Given the description of an element on the screen output the (x, y) to click on. 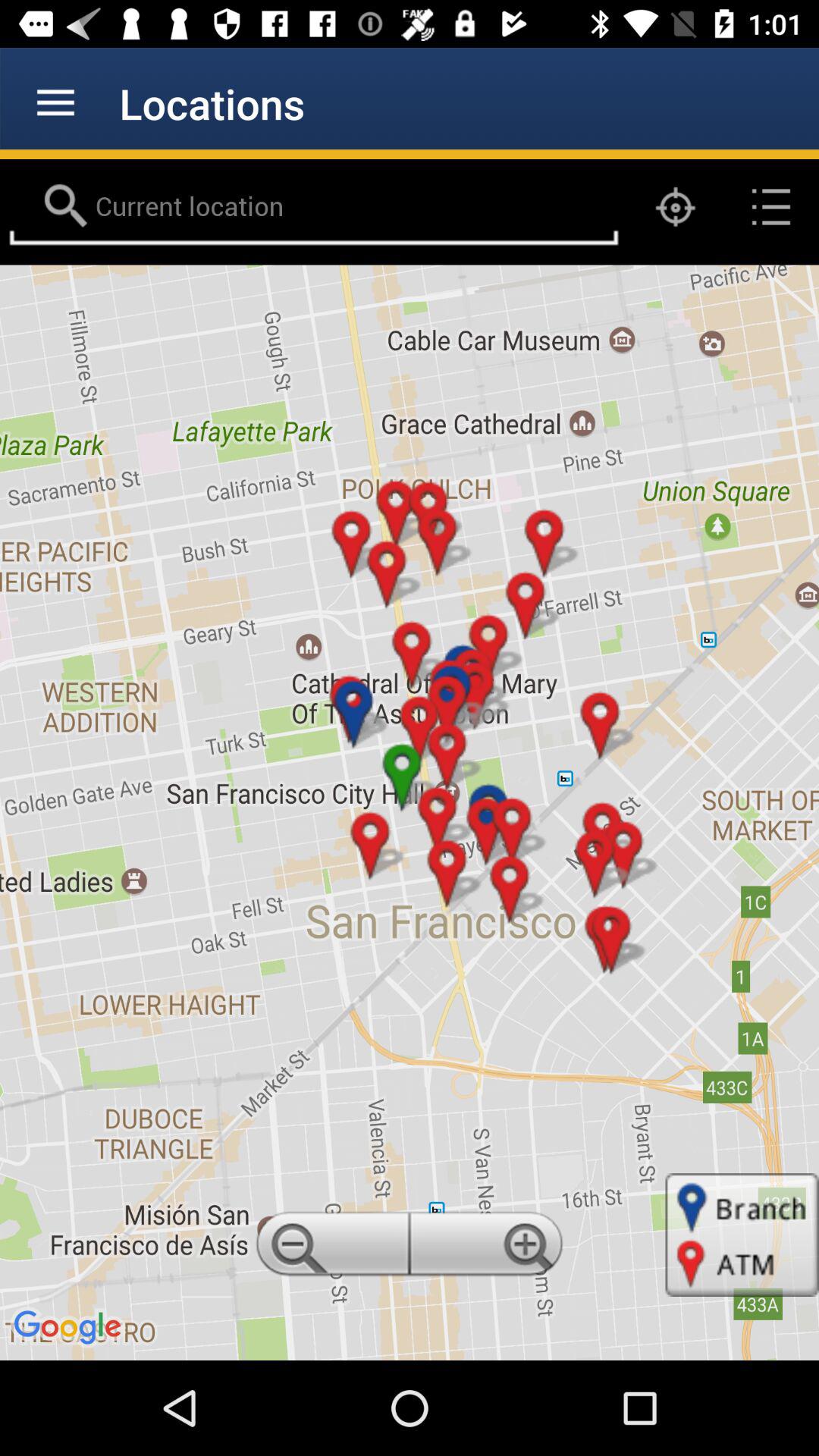
open icon at the center (409, 812)
